Given the description of an element on the screen output the (x, y) to click on. 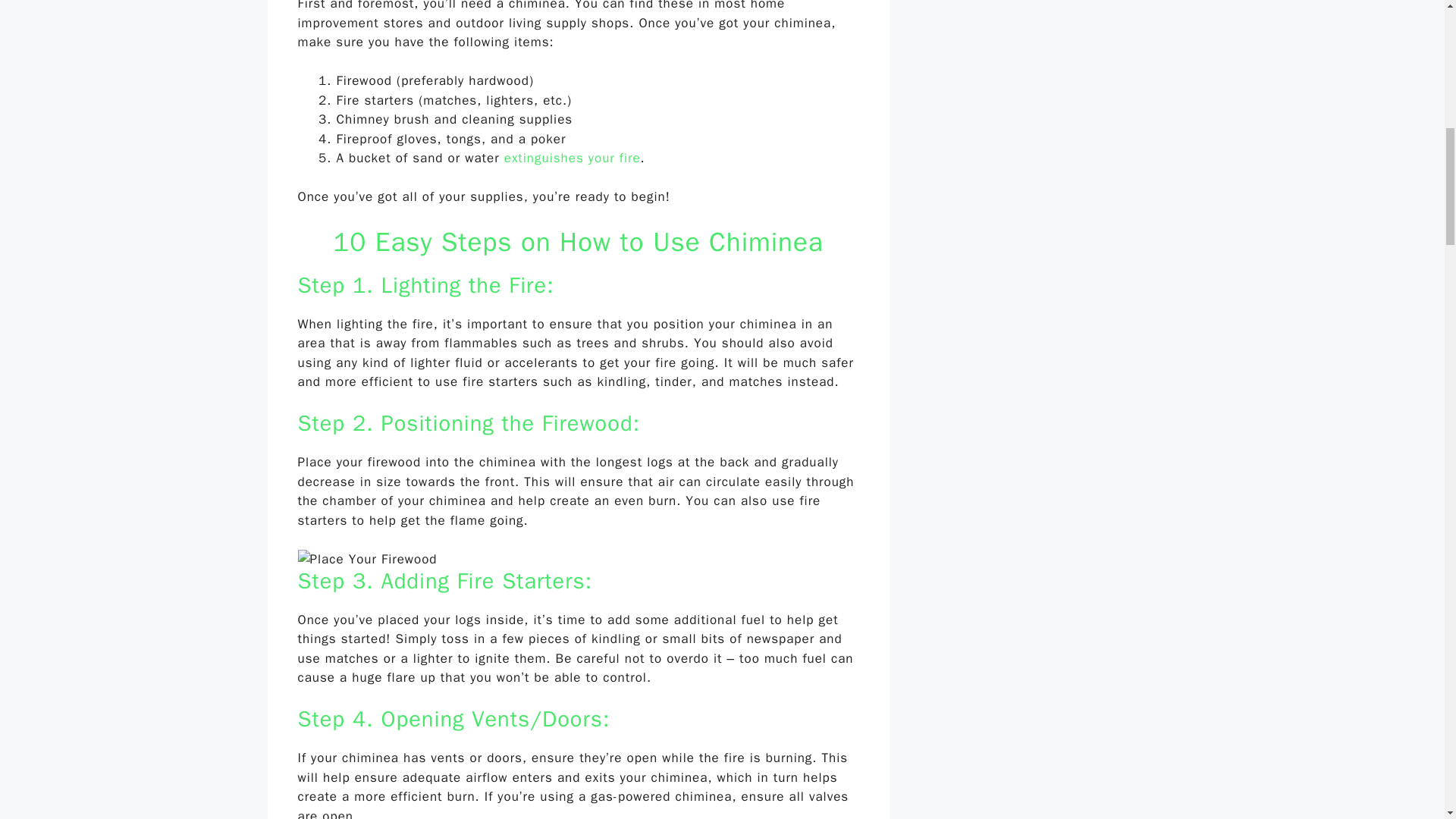
extinguishes your fire (569, 157)
Scroll back to top (1406, 720)
